Given the description of an element on the screen output the (x, y) to click on. 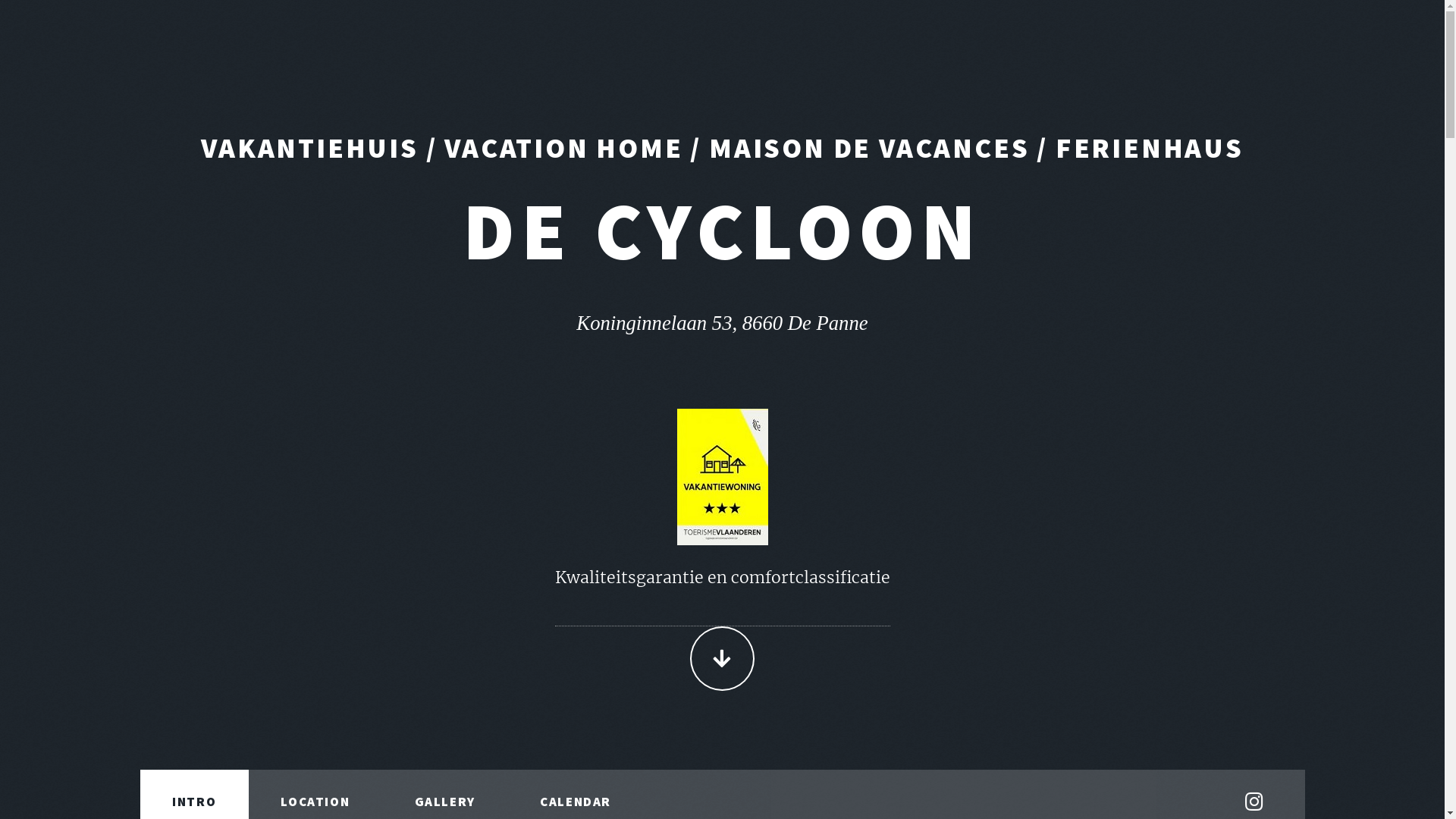
CONTINUE Element type: text (722, 658)
Kwaliteitsgarantie en comfortclassificatie Element type: text (722, 592)
